Given the description of an element on the screen output the (x, y) to click on. 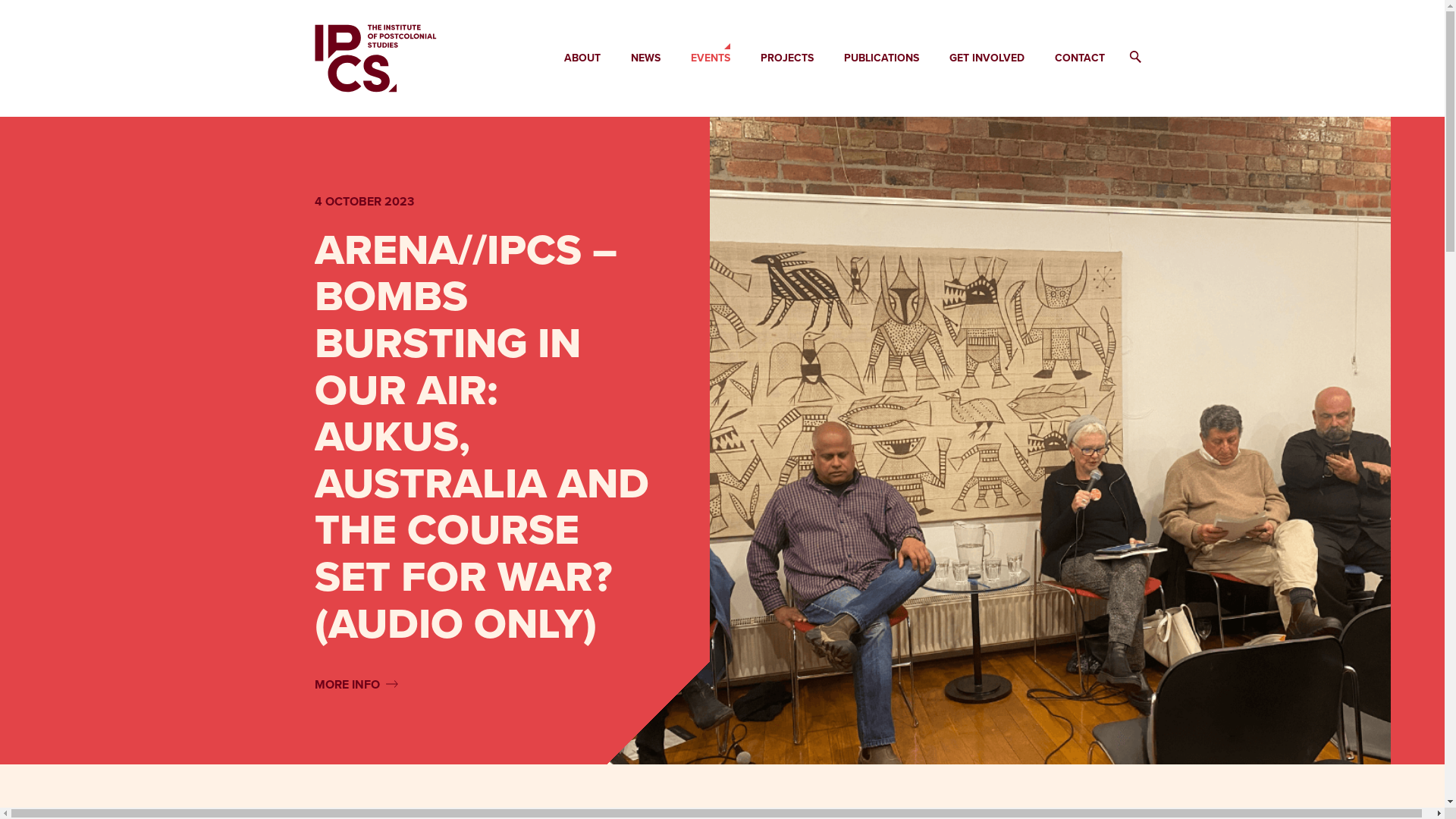
PUBLICATIONS Element type: text (881, 58)
CONTACT Element type: text (1079, 58)
GET INVOLVED Element type: text (986, 58)
EVENTS Element type: text (710, 58)
ABOUT Element type: text (582, 58)
MORE INFO Element type: text (356, 683)
IPCS Element type: text (375, 58)
NEWS Element type: text (645, 58)
PROJECTS Element type: text (786, 58)
